Given the description of an element on the screen output the (x, y) to click on. 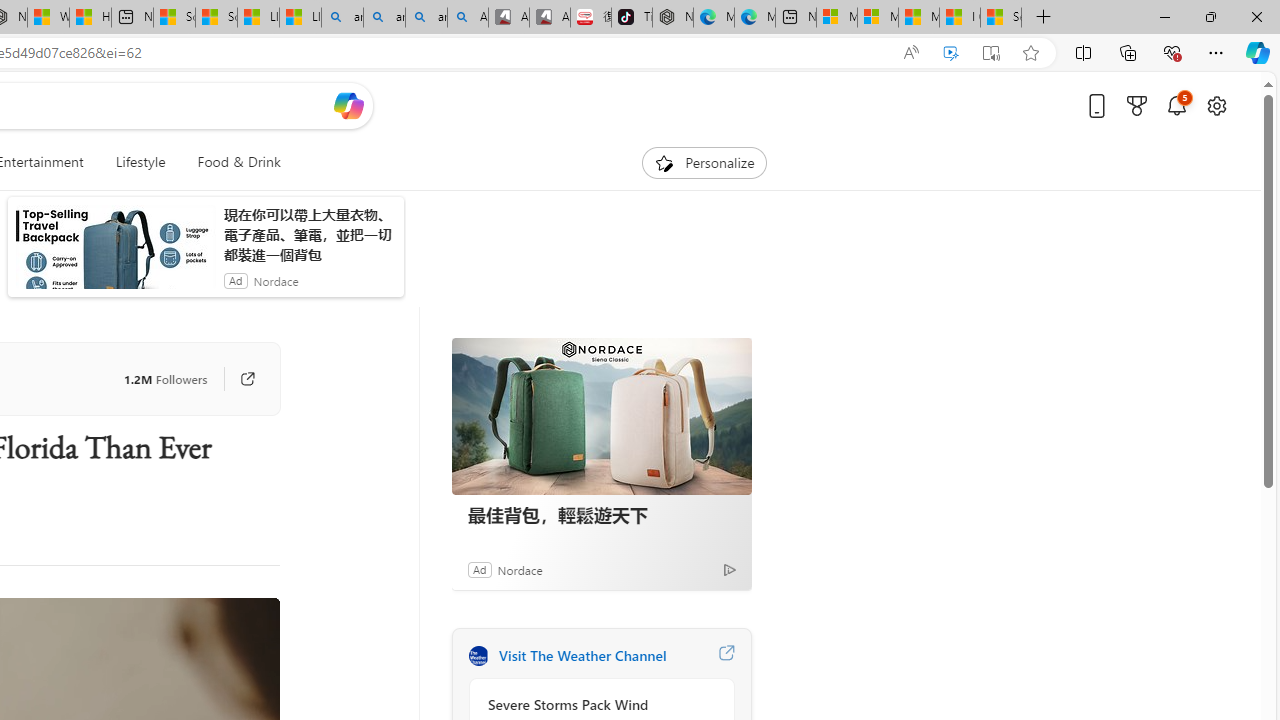
Huge shark washes ashore at New York City beach | Watch (90, 17)
Open Copilot (347, 105)
Microsoft rewards (1137, 105)
Ad (479, 569)
TikTok (631, 17)
Wildlife - MSN (48, 17)
amazon - Search (383, 17)
Lifestyle (139, 162)
